Given the description of an element on the screen output the (x, y) to click on. 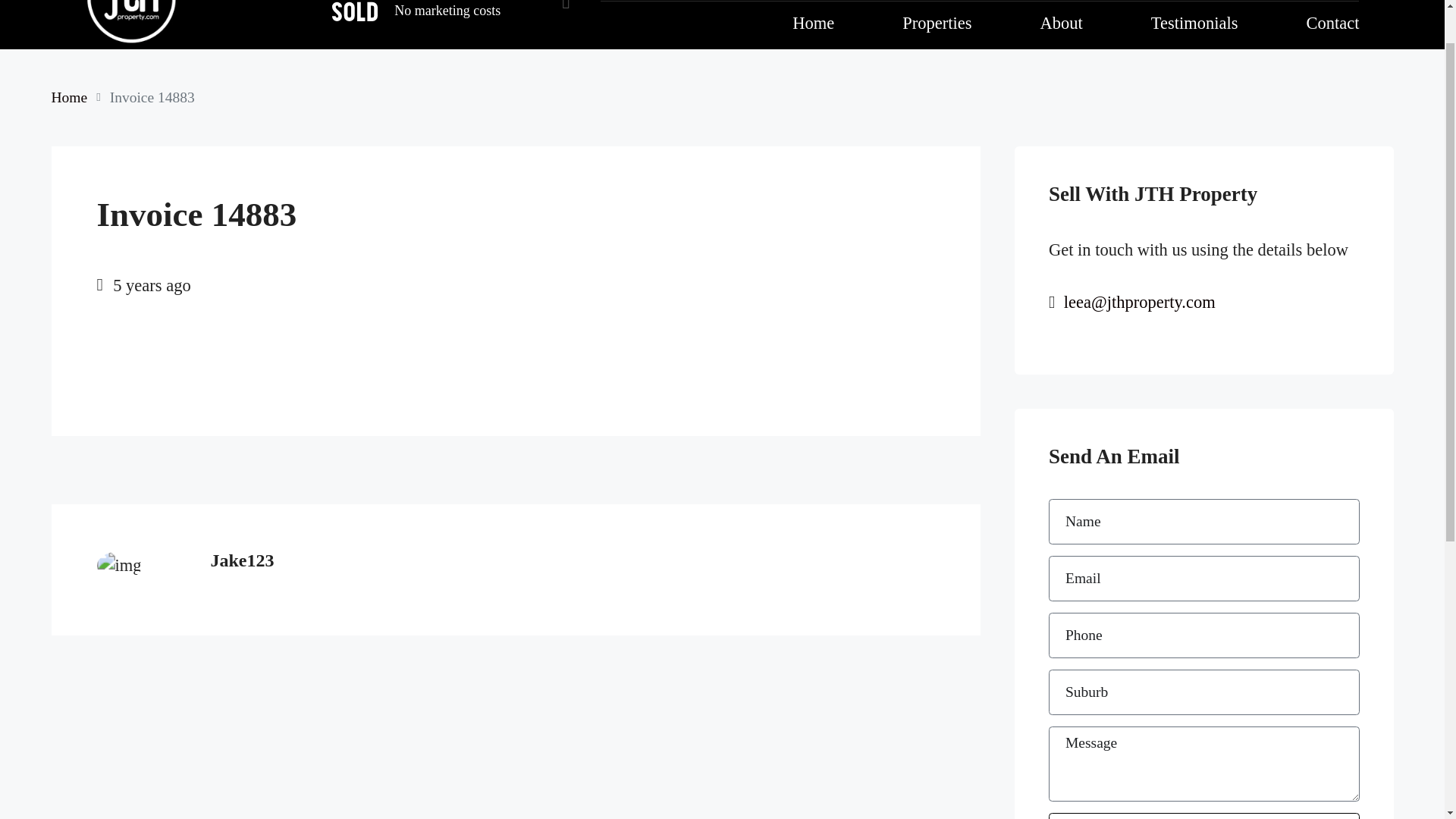
Properties (625, 2)
jth-logo (113, 675)
About (706, 2)
Testimonials (795, 2)
Home (542, 2)
Contact (887, 2)
